Given the description of an element on the screen output the (x, y) to click on. 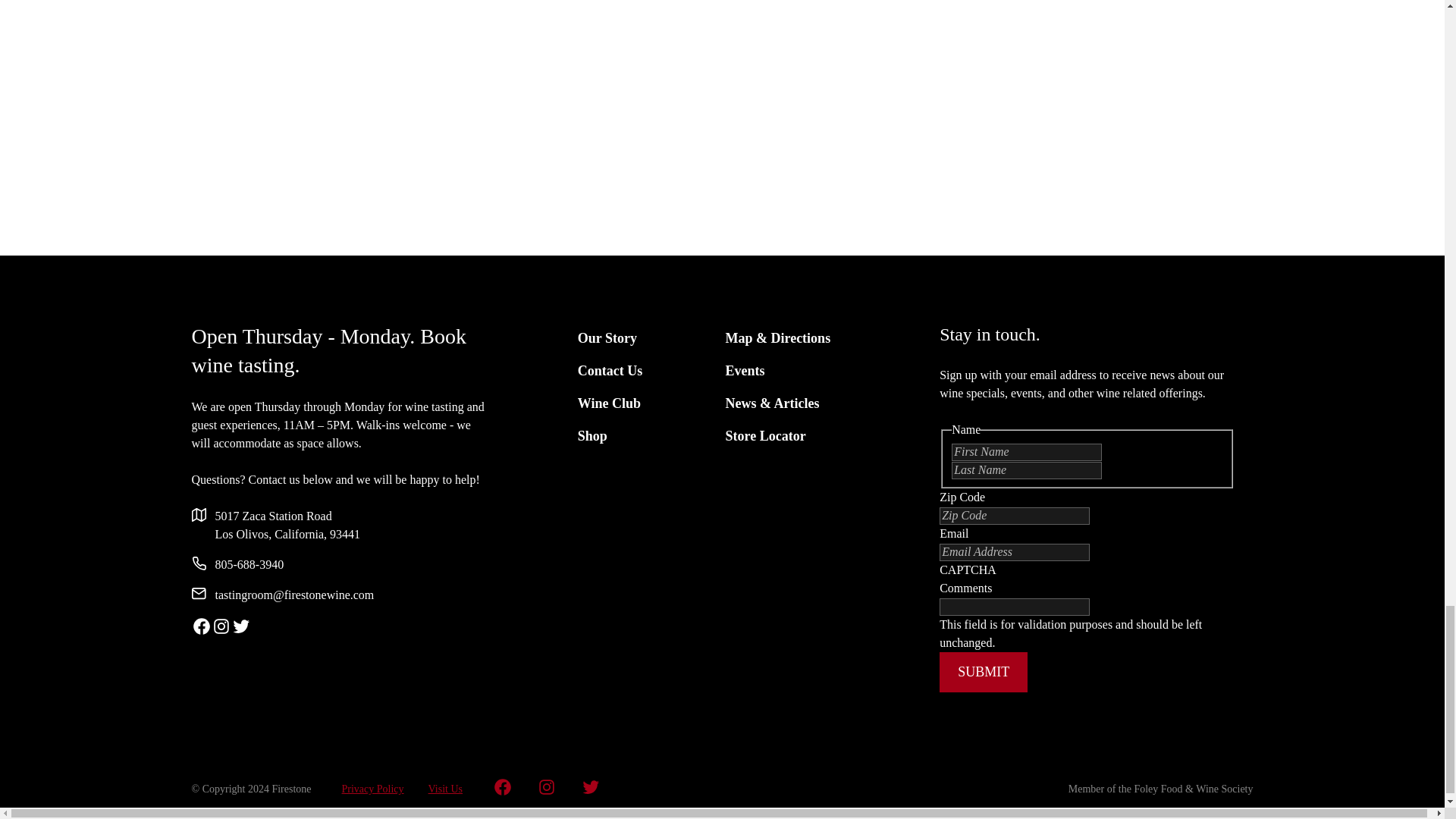
Submit (983, 671)
